Given the description of an element on the screen output the (x, y) to click on. 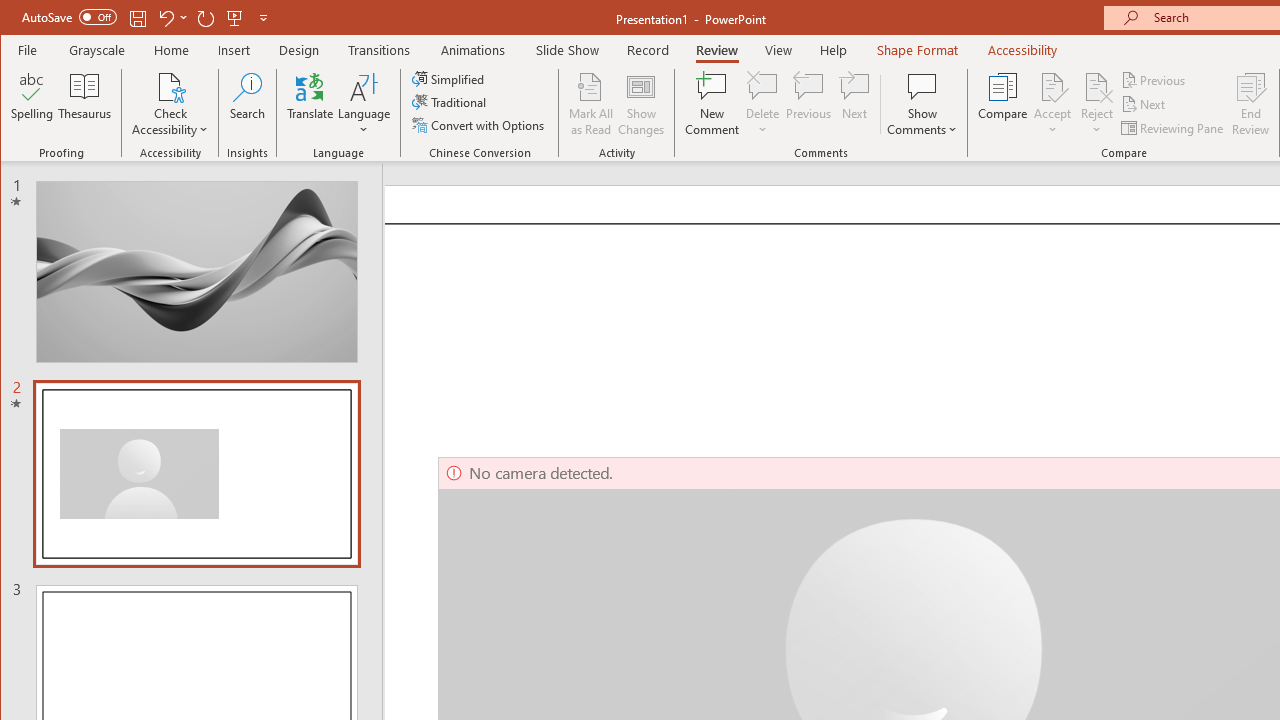
Language (363, 104)
Grayscale (97, 50)
Simplified (450, 78)
Show Changes (640, 104)
